Given the description of an element on the screen output the (x, y) to click on. 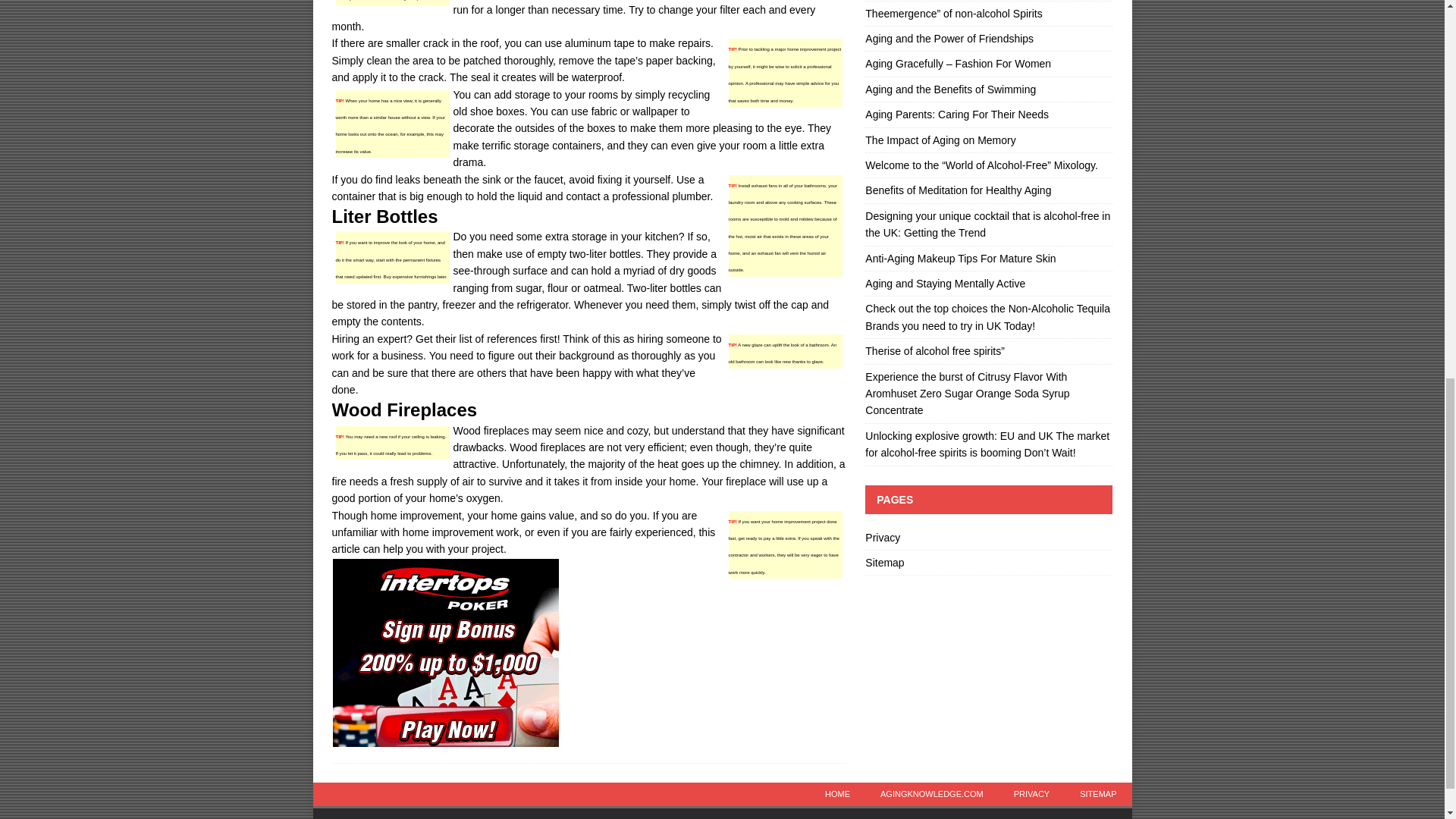
Aging and the Benefits of Swimming (949, 89)
Anti-Aging Makeup Tips For Mature Skin (959, 258)
Sitemap (988, 562)
Aging and the Power of Friendships (948, 38)
Benefits of Meditation for Healthy Aging (957, 190)
Aging Parents: Caring For Their Needs (956, 114)
Wood fireplaces (490, 430)
Aging and Staying Mentally Active (944, 283)
The Impact of Aging on Memory (939, 140)
Privacy (988, 539)
